Given the description of an element on the screen output the (x, y) to click on. 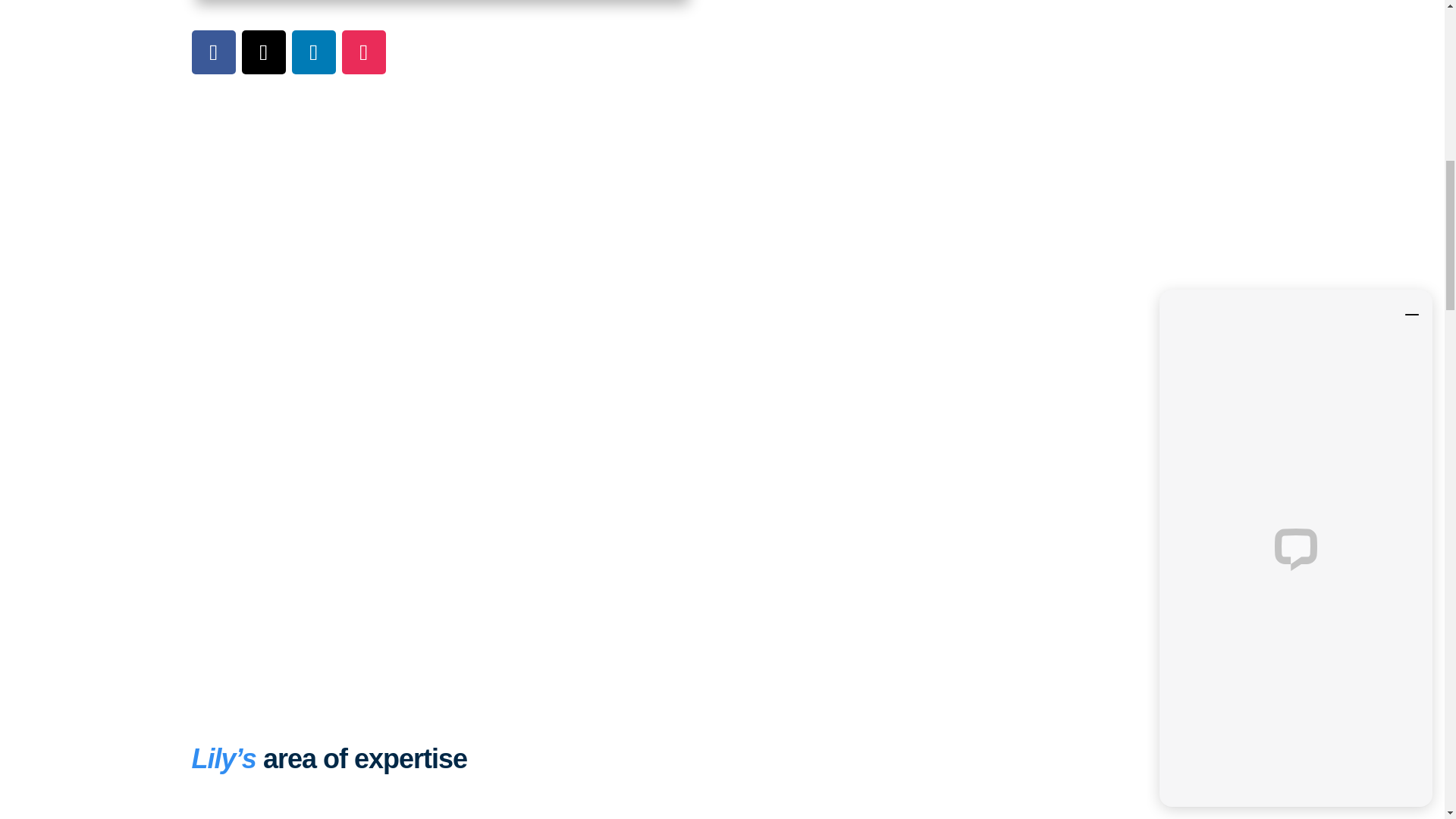
Follow on Facebook (212, 52)
Follow on X (263, 52)
Follow on Instagram (362, 52)
Follow on LinkedIn (312, 52)
